Given the description of an element on the screen output the (x, y) to click on. 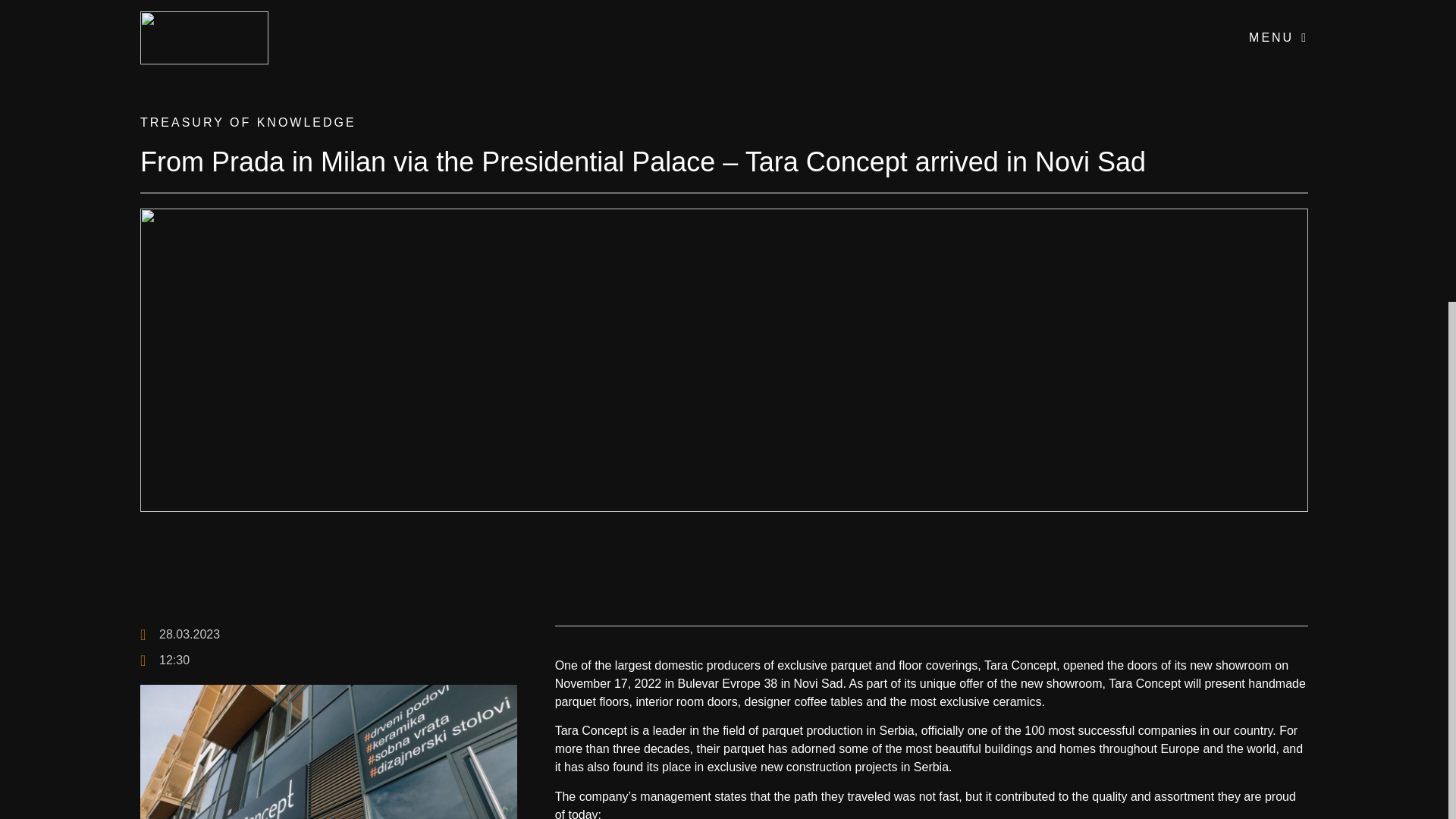
MENU (1278, 37)
